Given the description of an element on the screen output the (x, y) to click on. 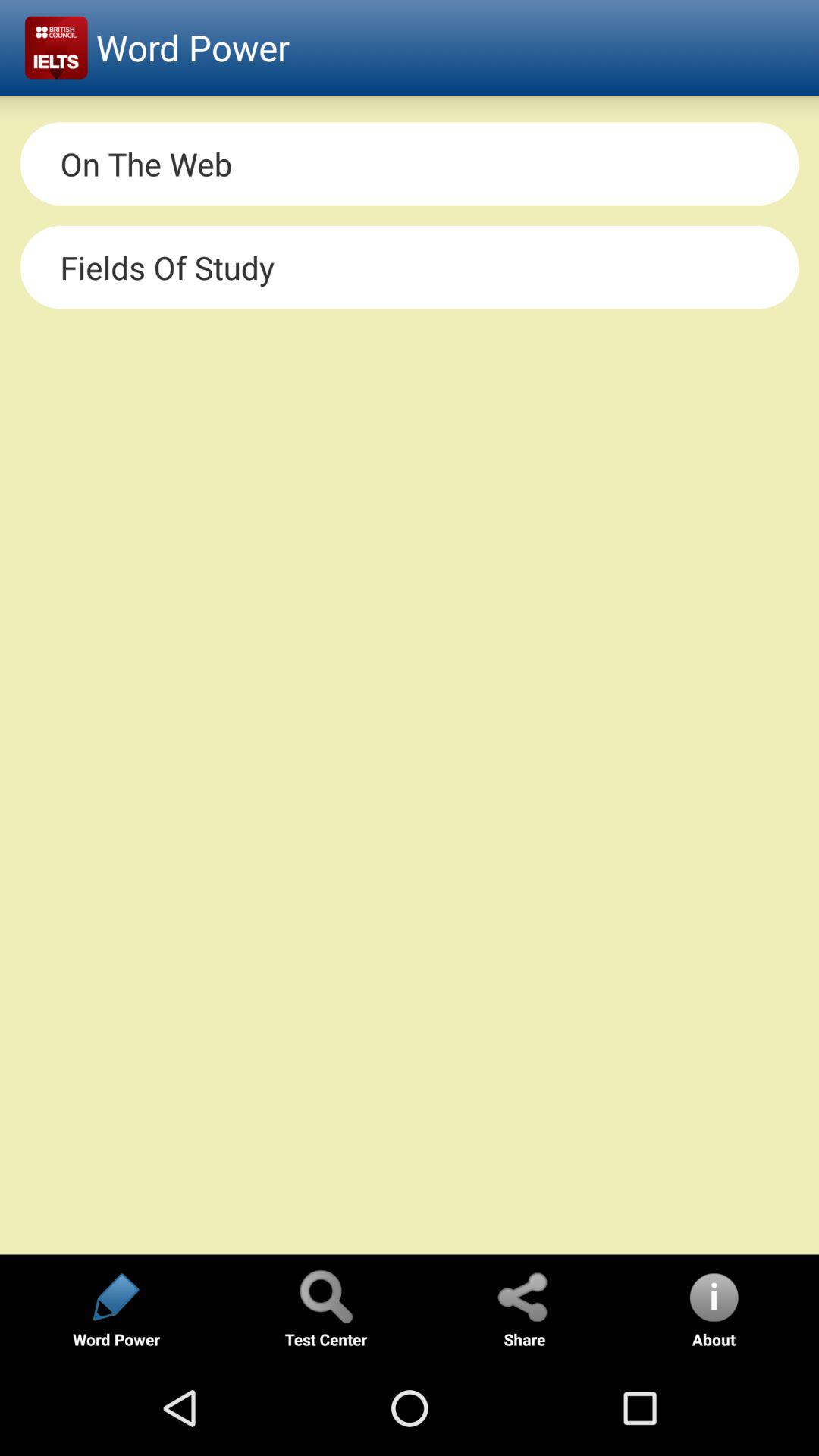
choose on the web item (409, 163)
